Given the description of an element on the screen output the (x, y) to click on. 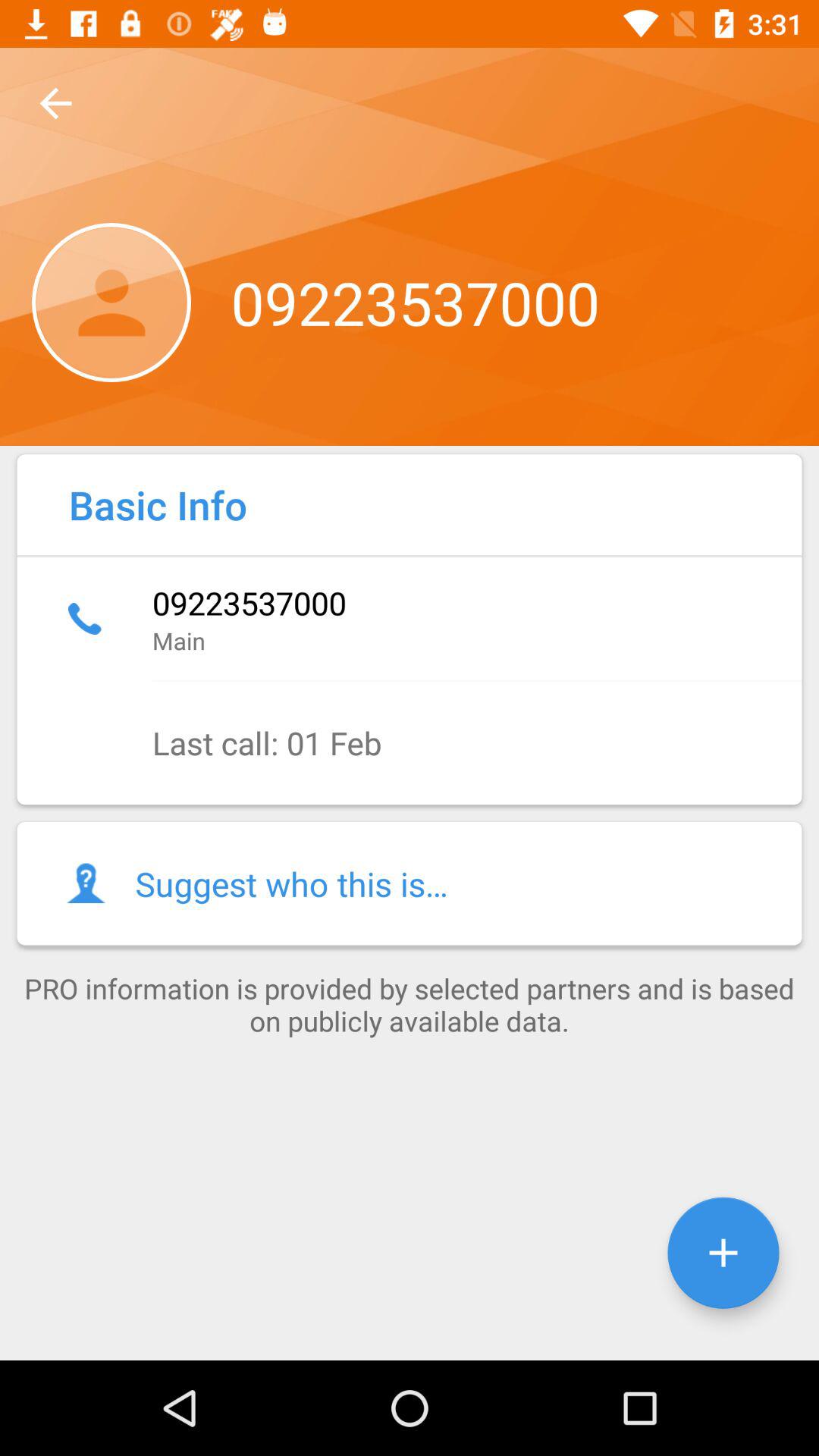
click the icon above pro information is (409, 883)
